Given the description of an element on the screen output the (x, y) to click on. 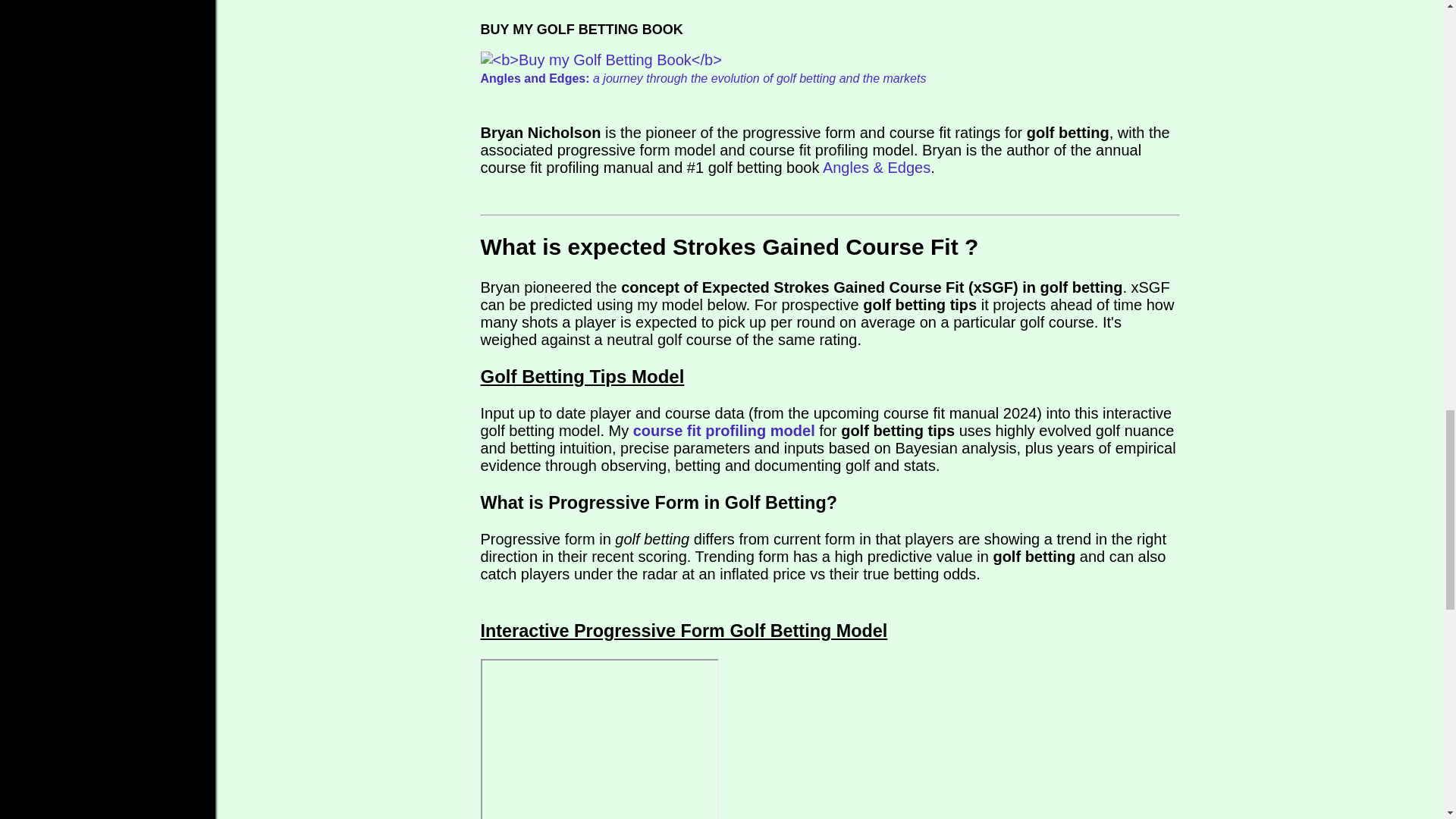
Angles and Edges: (534, 78)
course fit profiling model (724, 430)
